Given the description of an element on the screen output the (x, y) to click on. 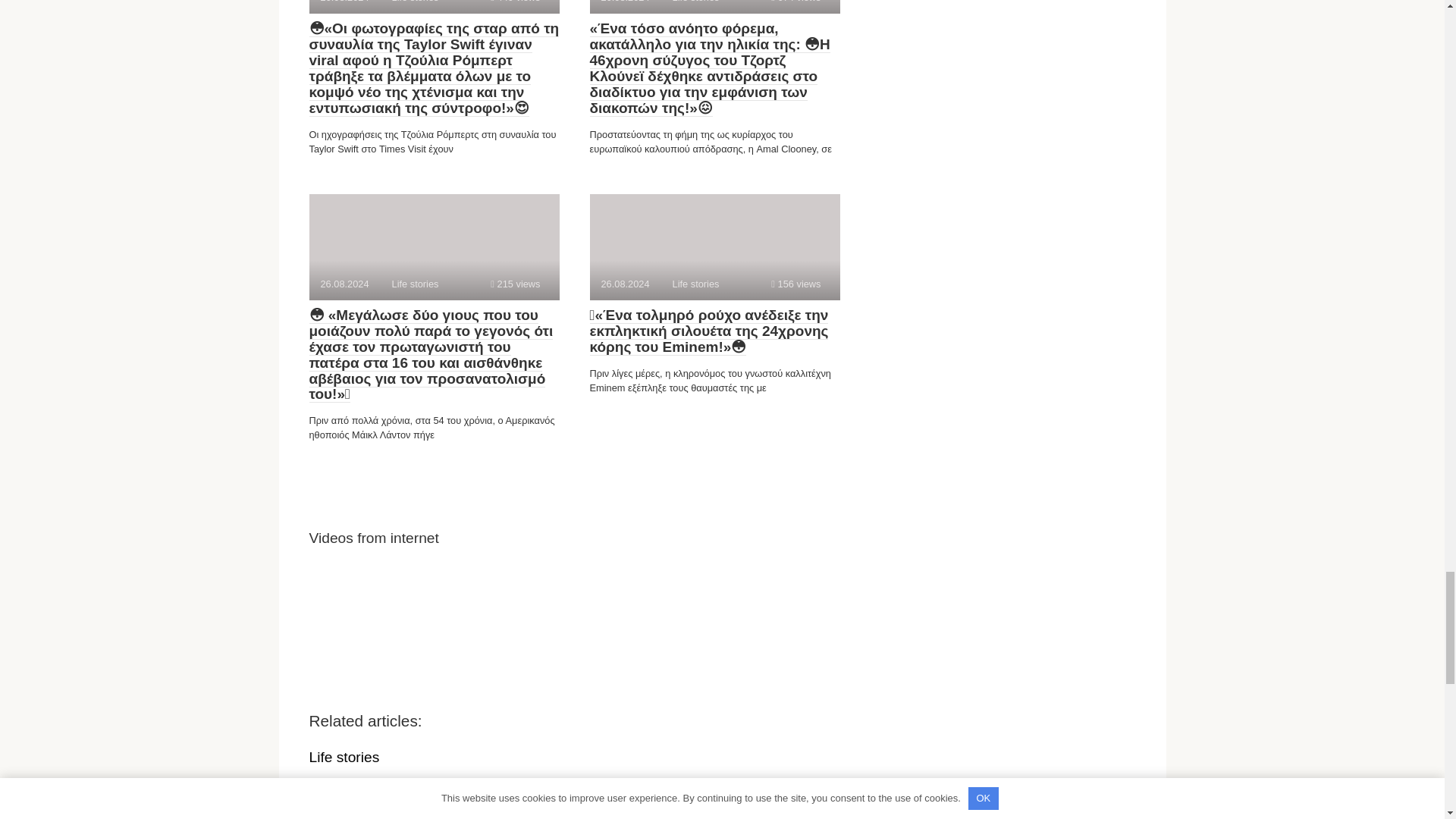
Life stories (433, 6)
Views (344, 756)
Views (515, 1)
Views (796, 1)
Views (714, 247)
